Given the description of an element on the screen output the (x, y) to click on. 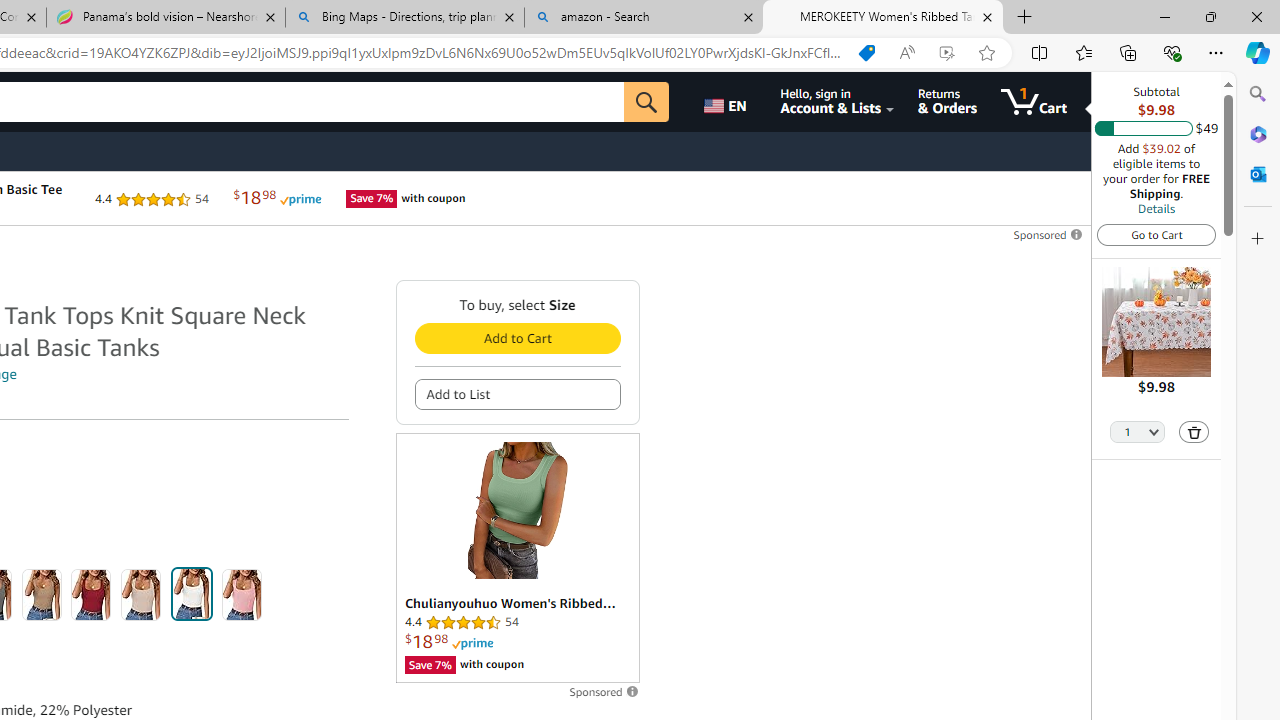
Add to List (516, 394)
Returns & Orders (946, 101)
